Given the description of an element on the screen output the (x, y) to click on. 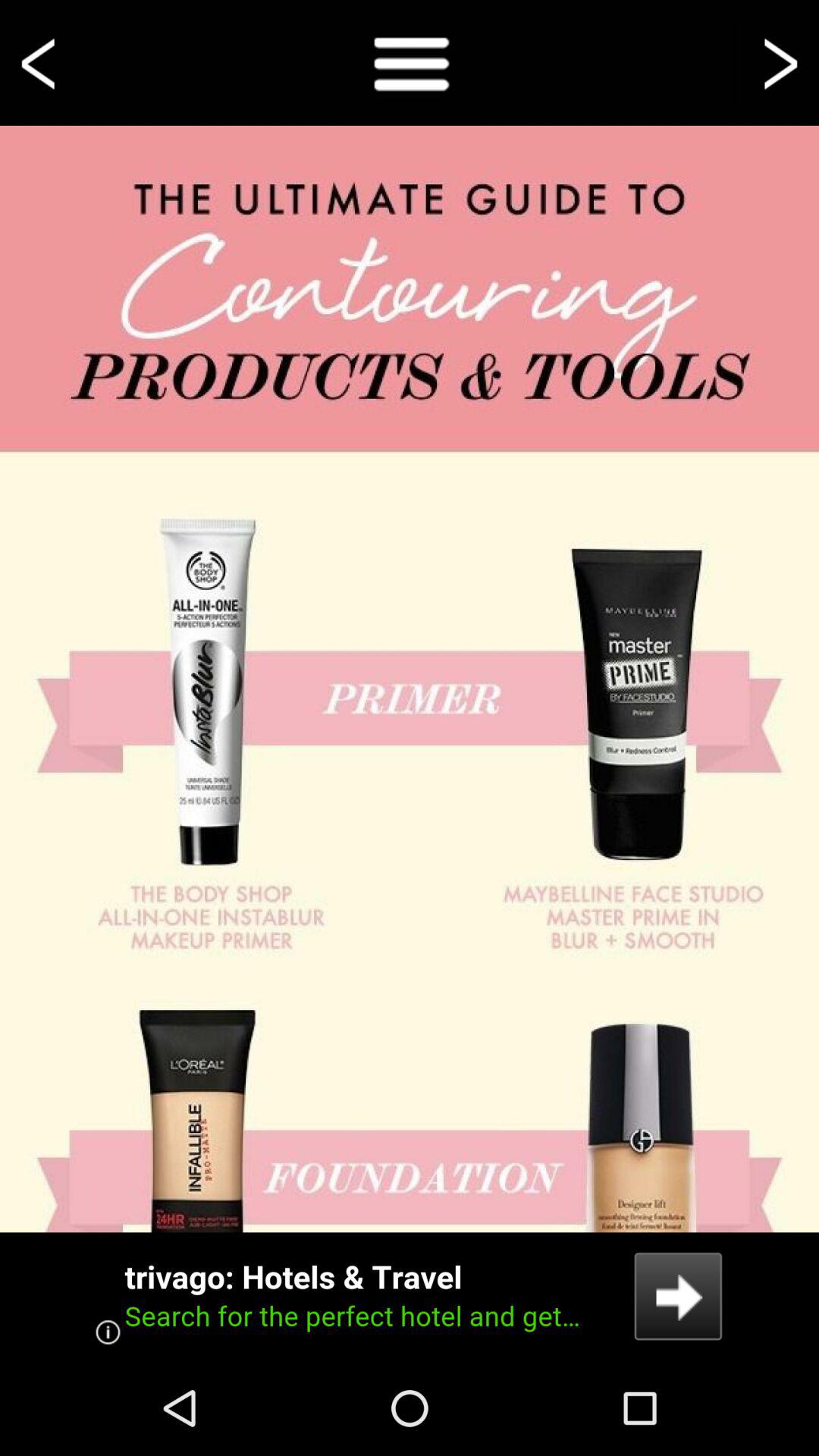
go to previous page (40, 62)
